Given the description of an element on the screen output the (x, y) to click on. 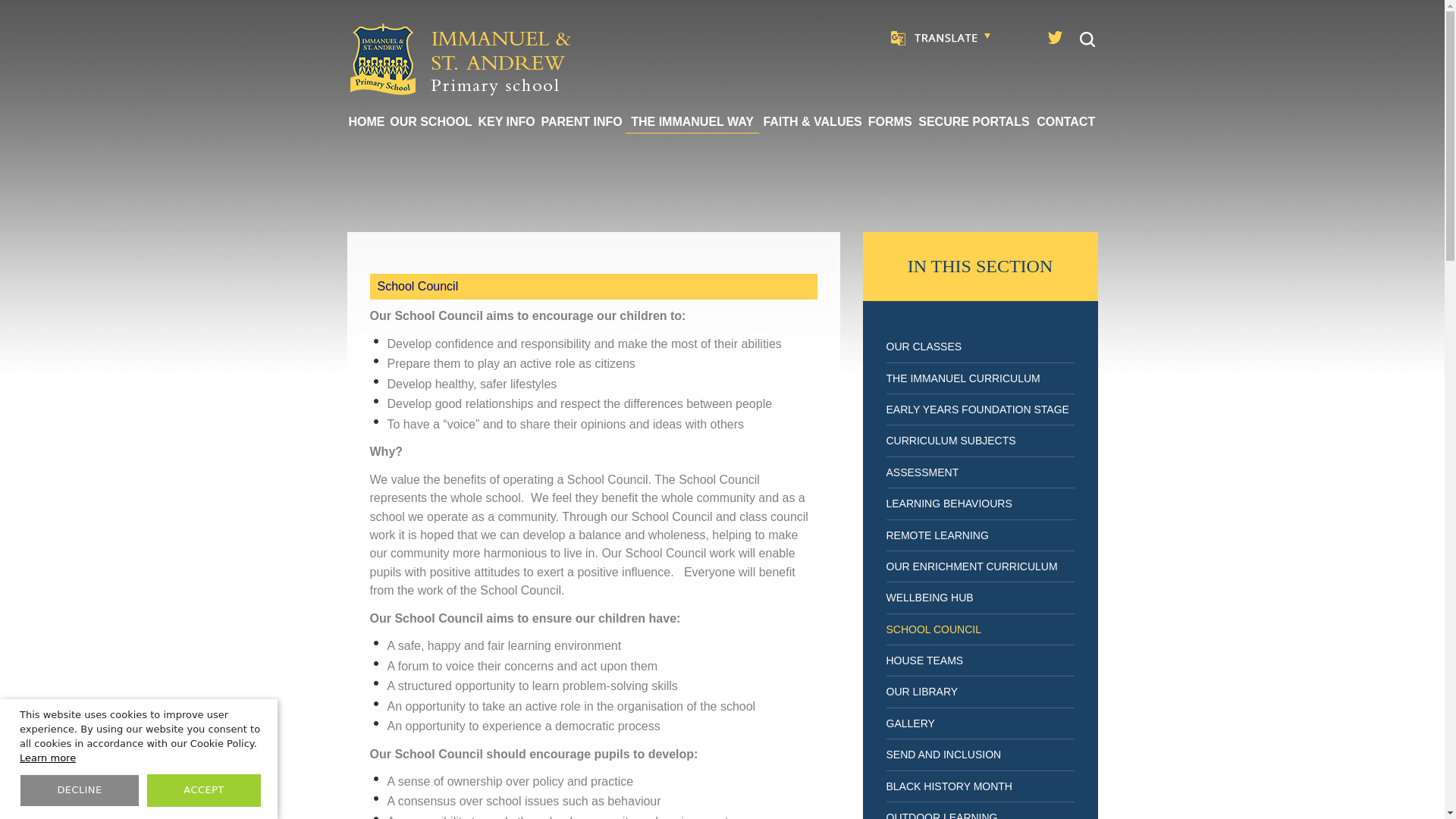
HOME (367, 121)
Search site (1087, 38)
KEY INFO (506, 121)
Search site (1087, 38)
PARENT INFO (581, 121)
OUR SCHOOL (431, 121)
